Given the description of an element on the screen output the (x, y) to click on. 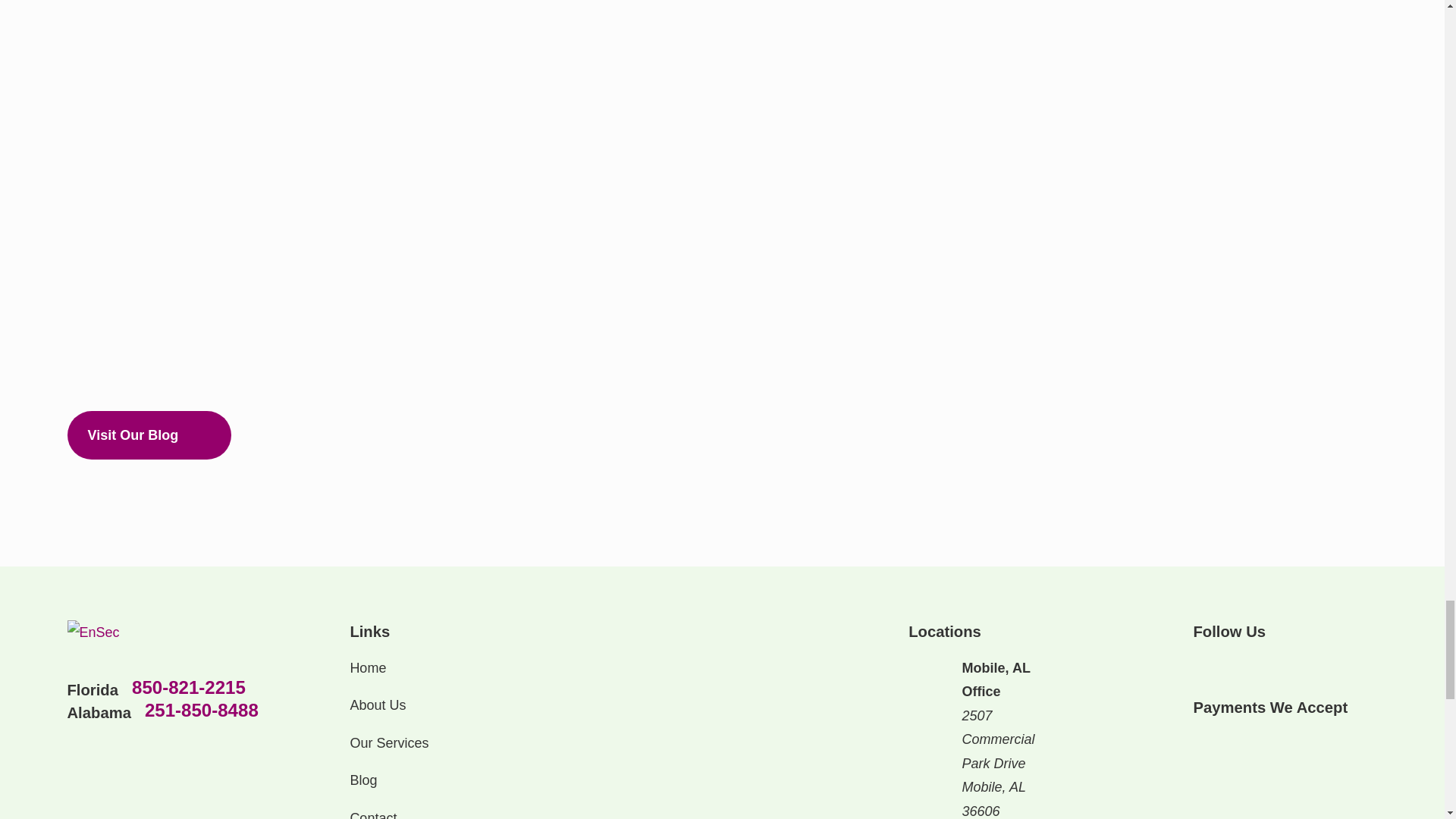
AMEX (1233, 739)
Google Business Profile (1281, 665)
Yelp (1242, 665)
Home (161, 631)
Visa (1200, 739)
LinkedIn (1202, 665)
